Given the description of an element on the screen output the (x, y) to click on. 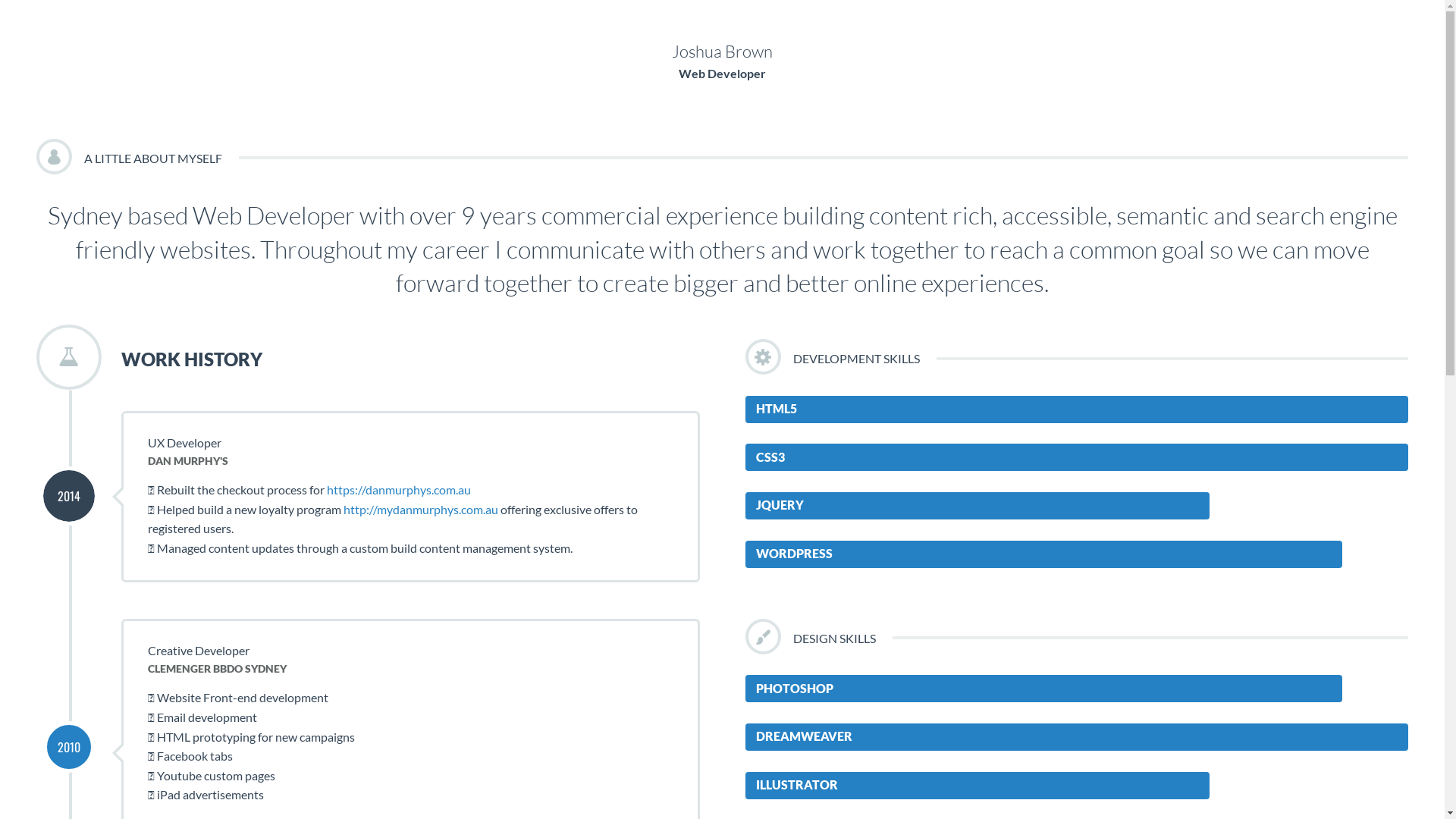
https://danmurphys.com.au Element type: text (398, 489)
http://mydanmurphys.com.au Element type: text (420, 509)
